Given the description of an element on the screen output the (x, y) to click on. 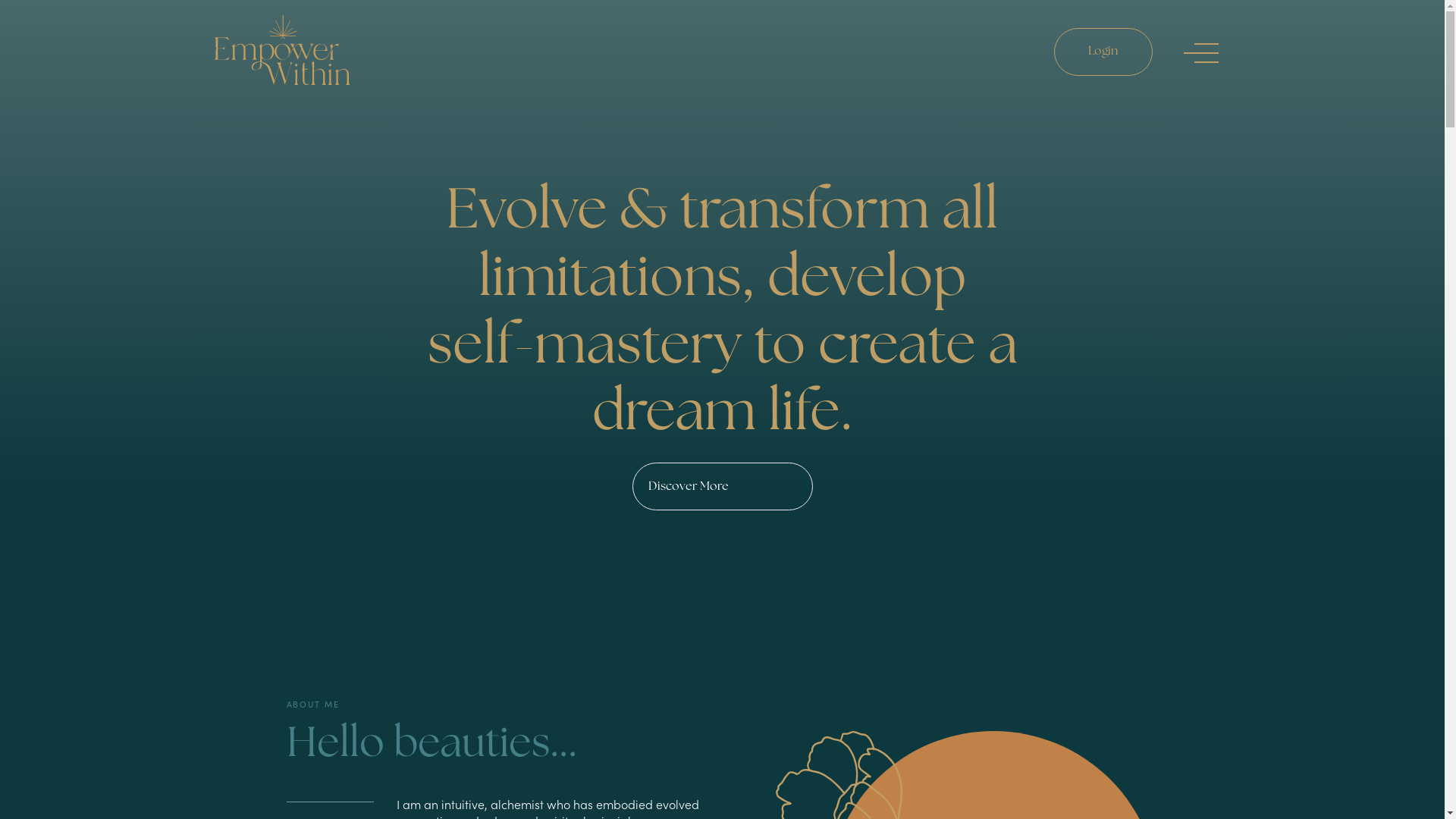
Login Element type: text (1103, 51)
Discover More Element type: text (722, 486)
